Given the description of an element on the screen output the (x, y) to click on. 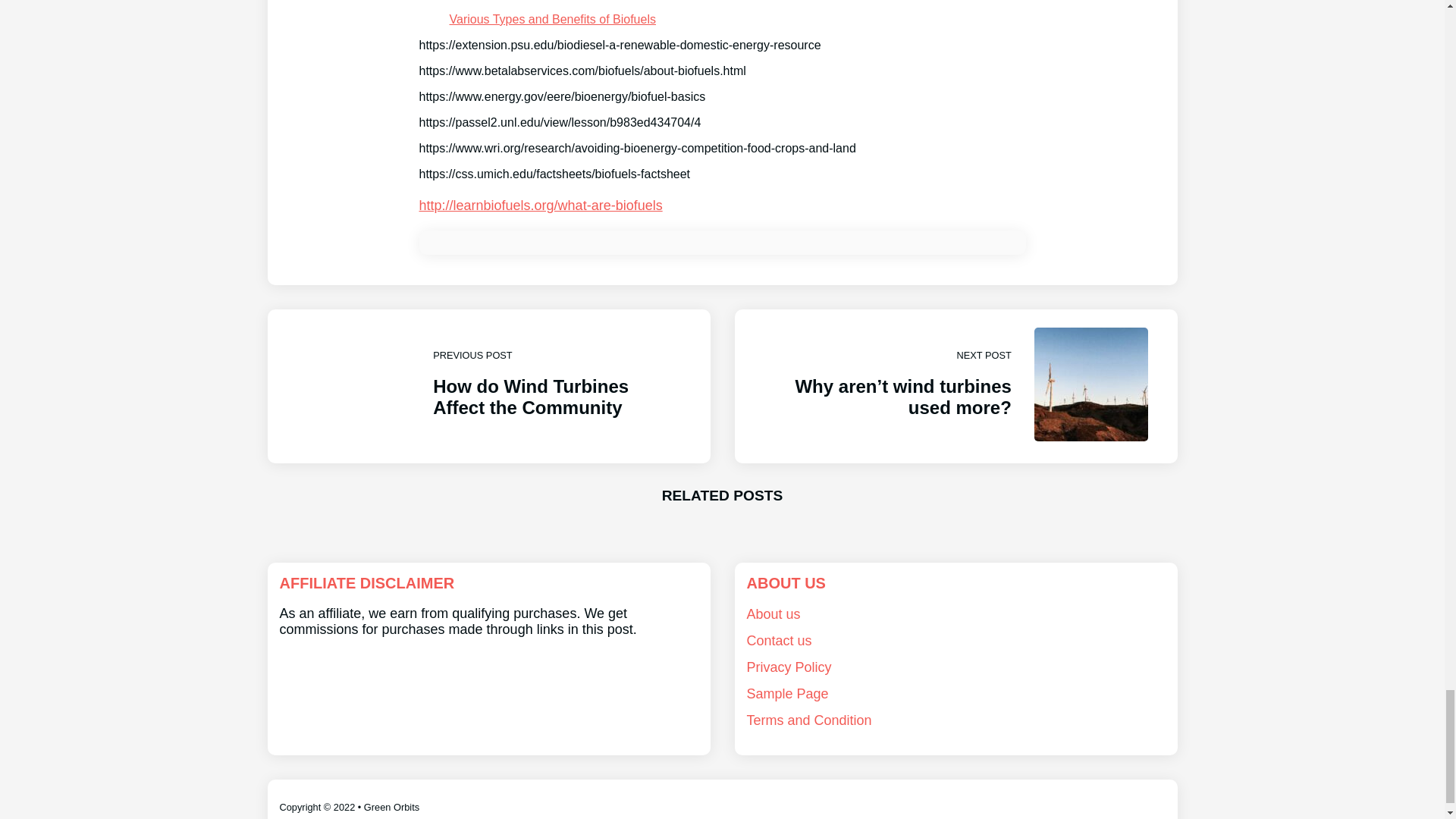
About us (772, 613)
Contact us (777, 640)
Terms and Condition (807, 720)
Sample Page (786, 693)
Privacy Policy (788, 667)
Various Types and Benefits of Biofuels (551, 19)
